Given the description of an element on the screen output the (x, y) to click on. 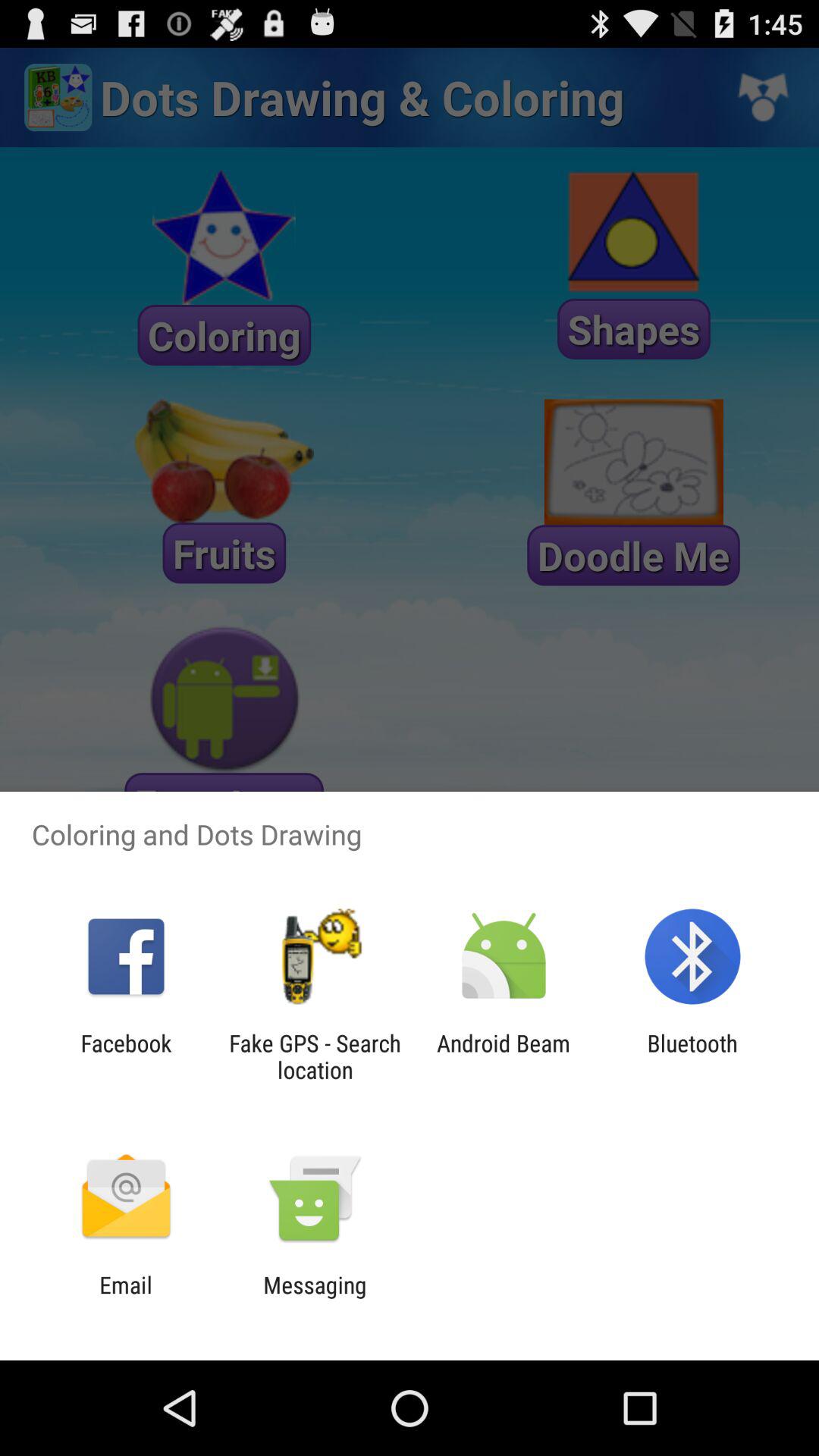
open the messaging icon (314, 1298)
